Given the description of an element on the screen output the (x, y) to click on. 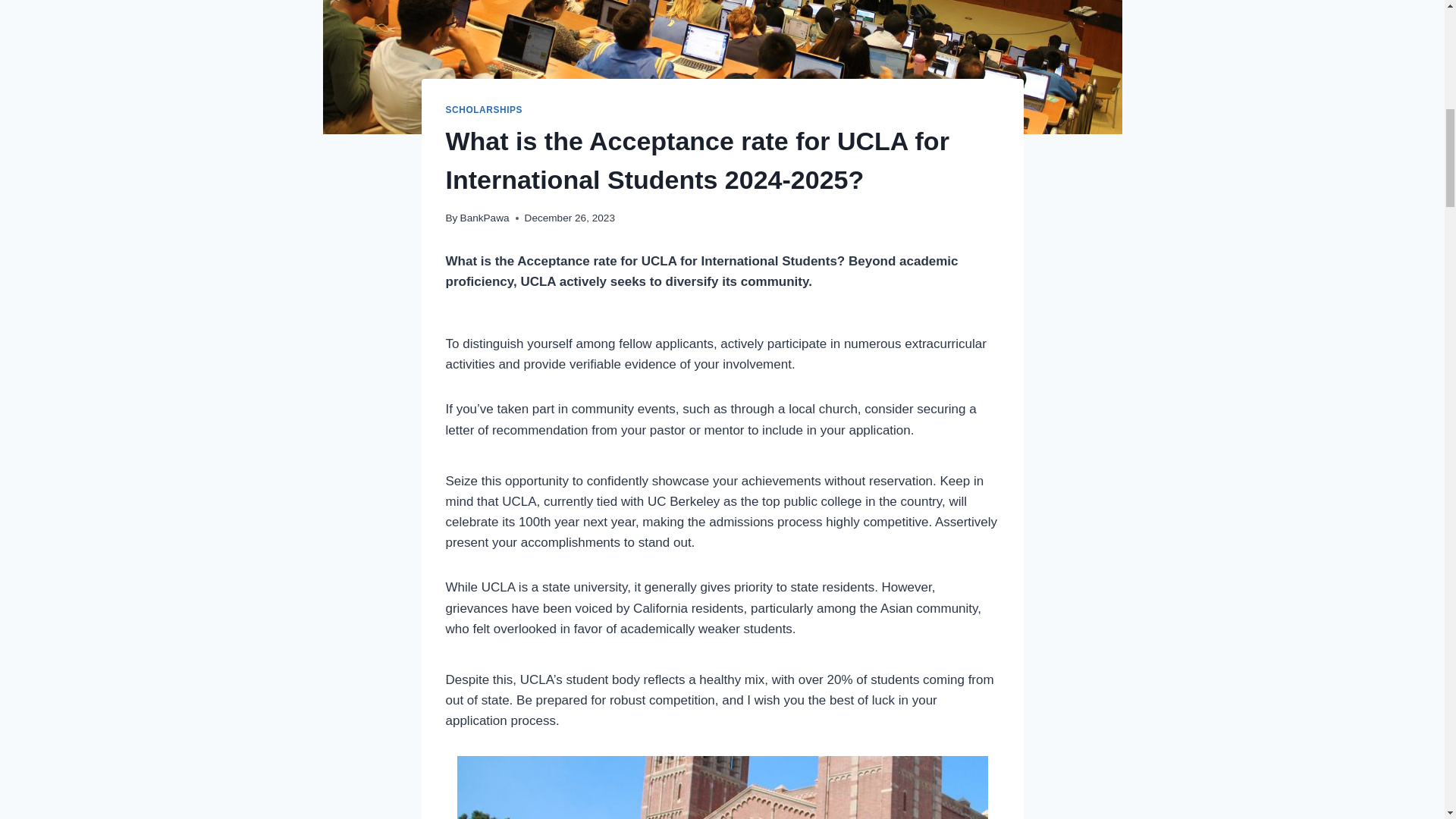
BankPawa (484, 217)
SCHOLARSHIPS (483, 109)
